Given the description of an element on the screen output the (x, y) to click on. 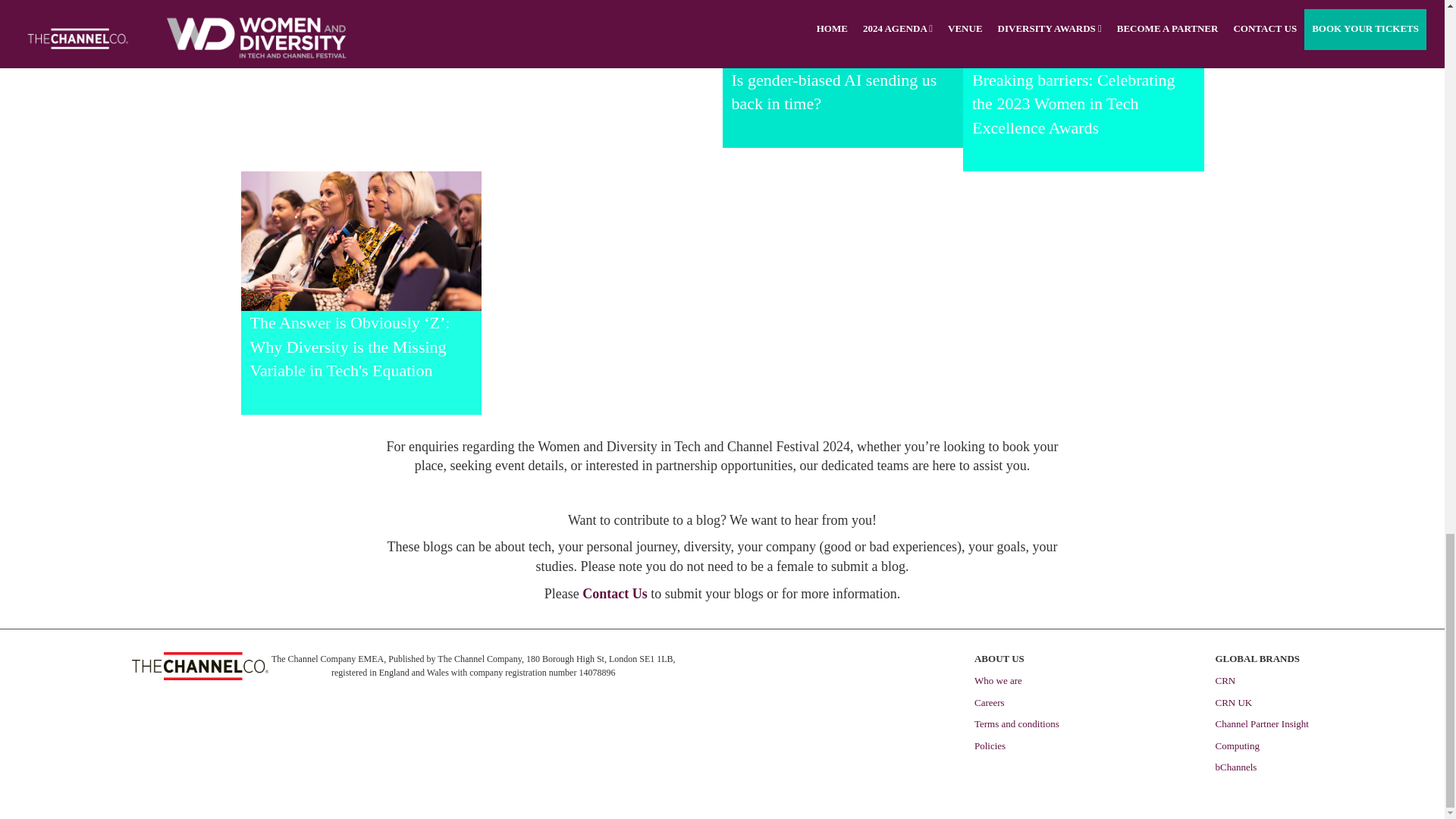
Terms and conditions (1016, 723)
Is gender-biased AI sending us back in time? (833, 91)
Policies (990, 745)
CRN (1224, 680)
Who we are (998, 680)
Contact Us (614, 594)
Careers (989, 702)
